Given the description of an element on the screen output the (x, y) to click on. 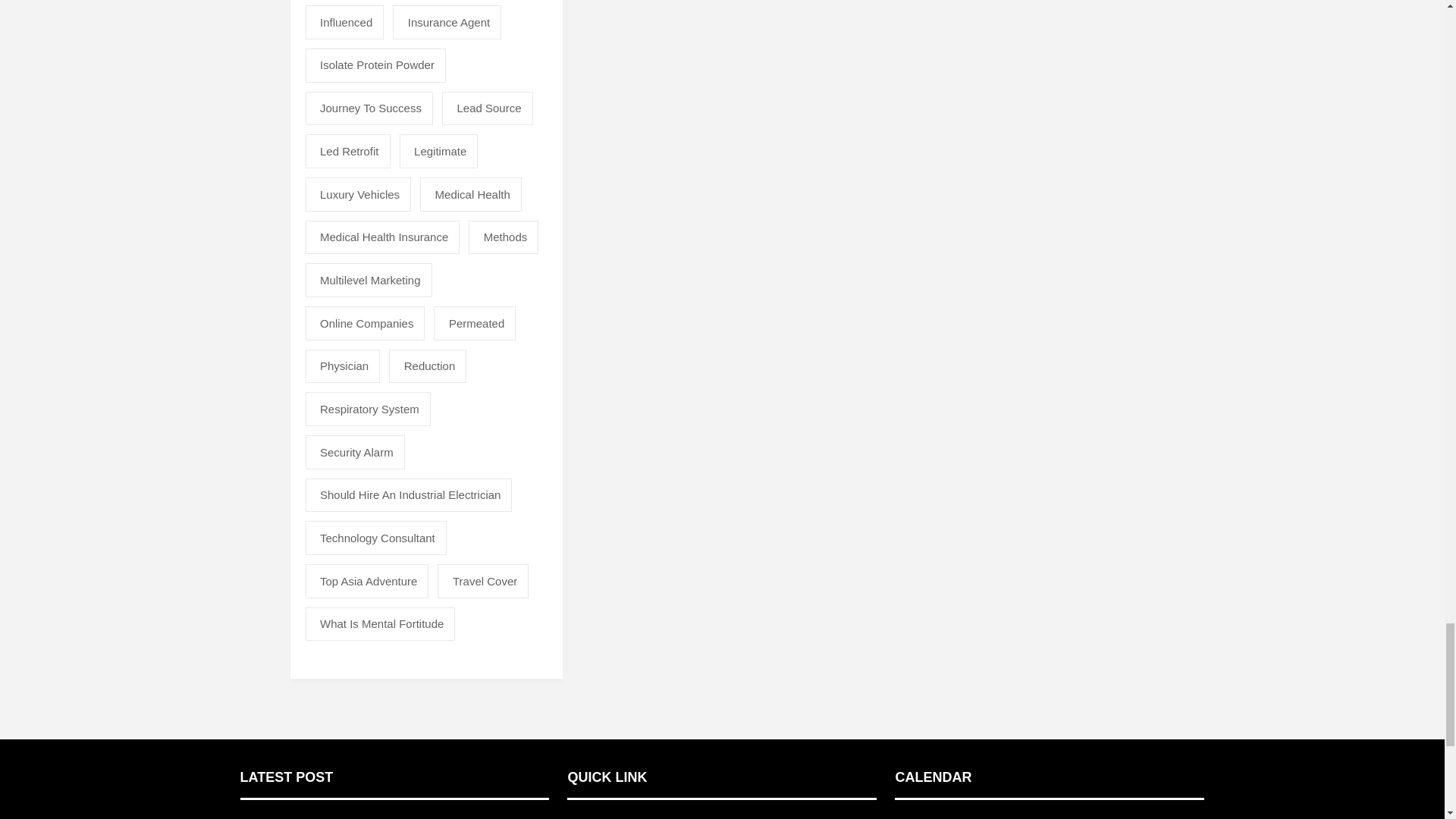
Saturday (1138, 816)
Thursday (1049, 816)
Wednesday (1005, 816)
Friday (1093, 816)
Tuesday (961, 816)
Sunday (1182, 816)
Monday (917, 816)
